Given the description of an element on the screen output the (x, y) to click on. 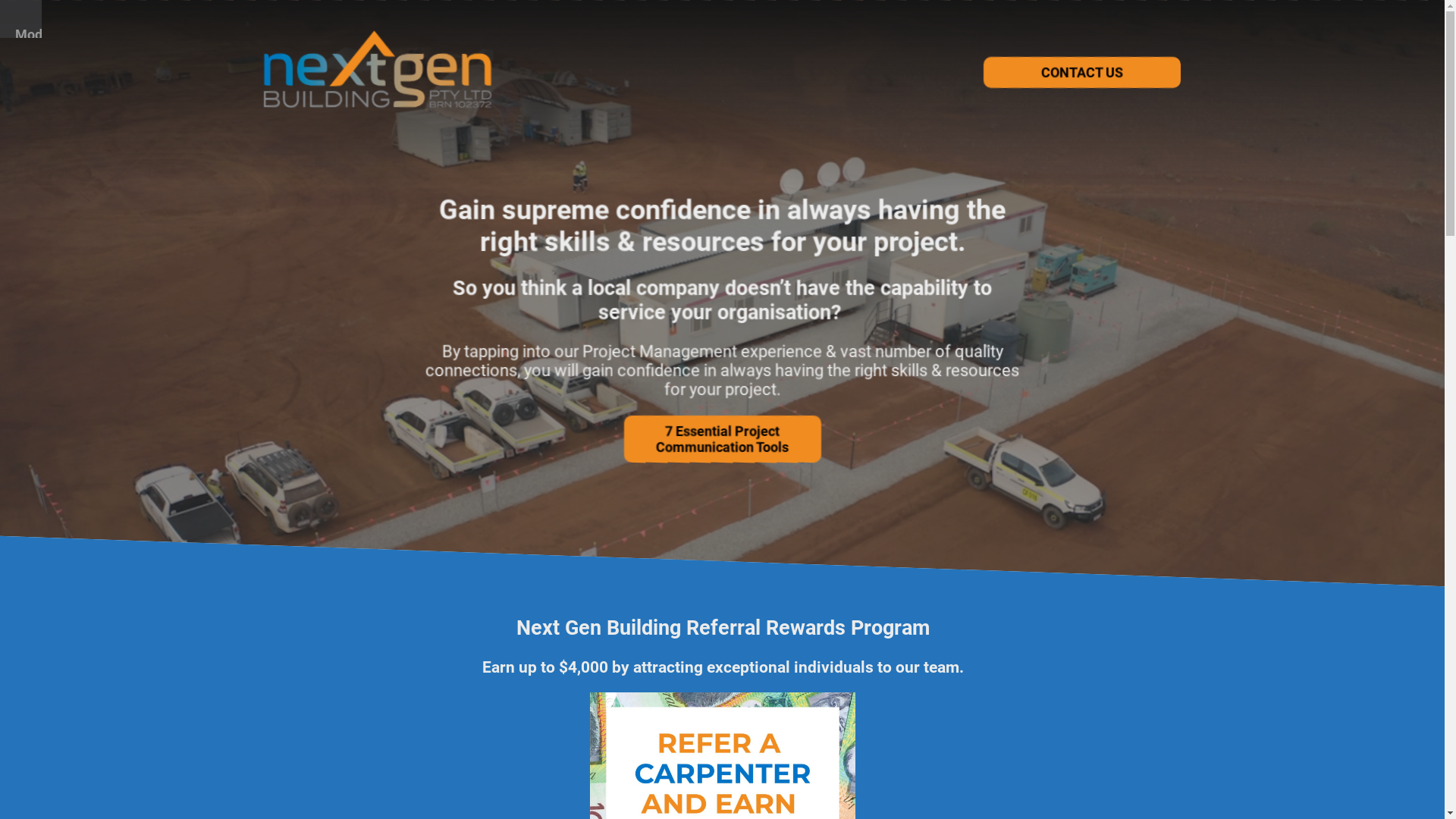
Modular Building Installation Element type: text (67, 42)
CONTACT US Element type: text (1082, 72)
7 Essential Project Communication Tools Element type: text (721, 439)
